Given the description of an element on the screen output the (x, y) to click on. 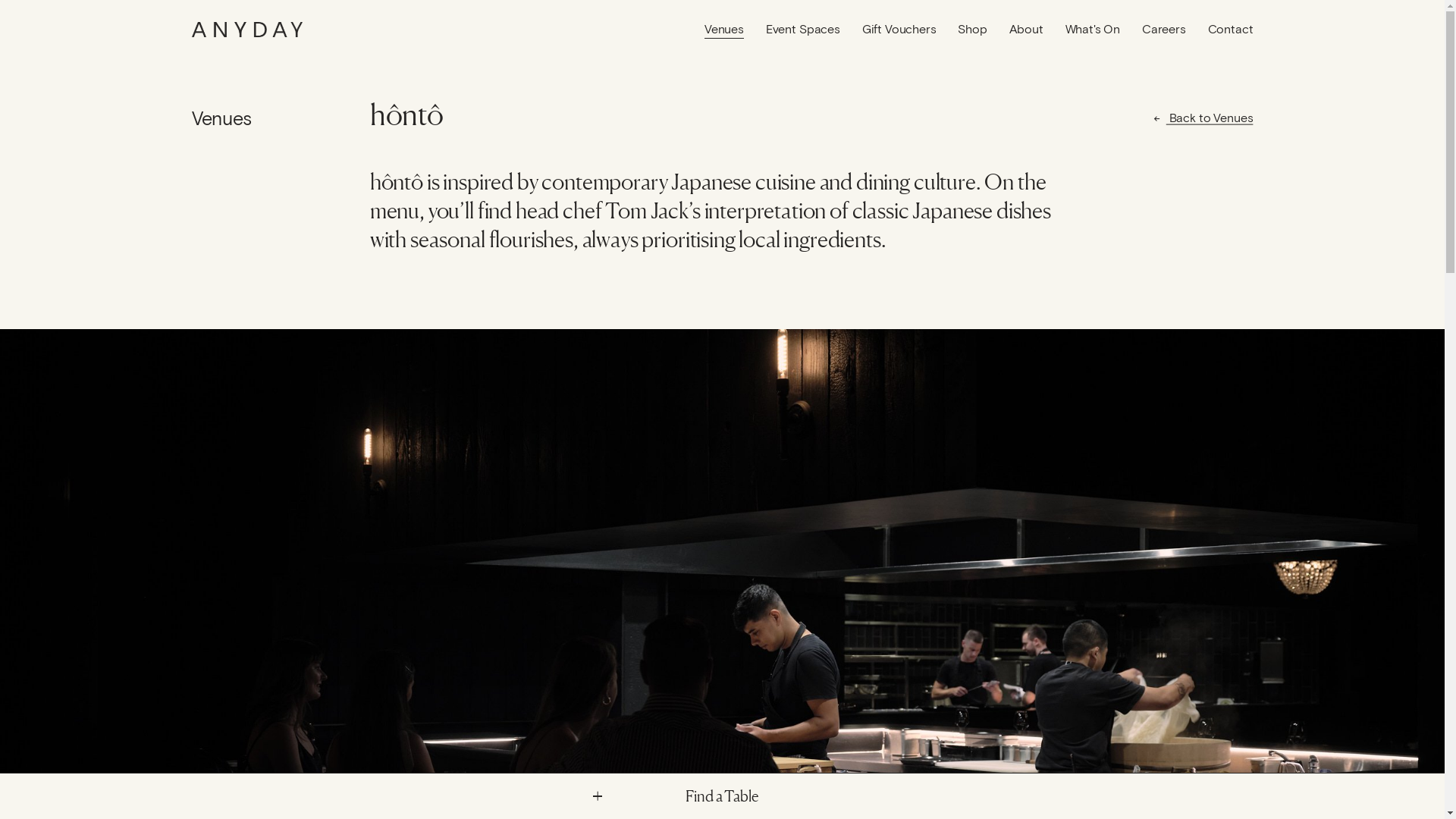
Careers Element type: text (1164, 29)
Venues Element type: text (723, 29)
Shop Element type: text (971, 29)
What's On Element type: text (1092, 29)
Back to Venues Element type: text (1209, 117)
Event Spaces Element type: text (802, 29)
Contact Element type: text (1230, 29)
Gift Vouchers Element type: text (899, 29)
About Element type: text (1026, 29)
Find a Table Element type: text (722, 796)
